Given the description of an element on the screen output the (x, y) to click on. 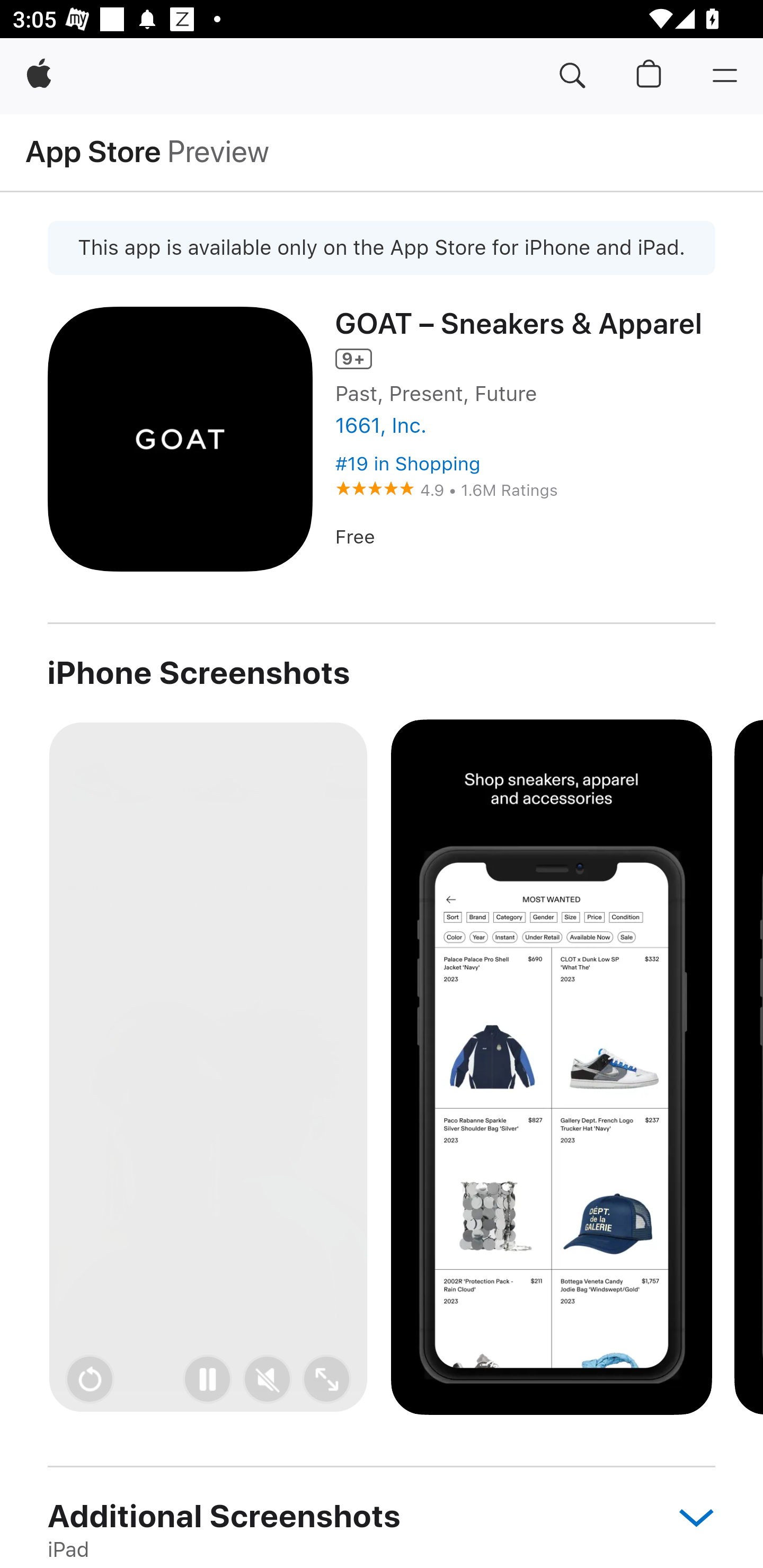
Apple (38, 75)
Search apple.com (572, 75)
Shopping Bag (648, 75)
Menu (724, 75)
App Store (93, 151)
1661, Inc. (380, 426)
#19 in Shopping (407, 463)
 (686, 1516)
